Given the description of an element on the screen output the (x, y) to click on. 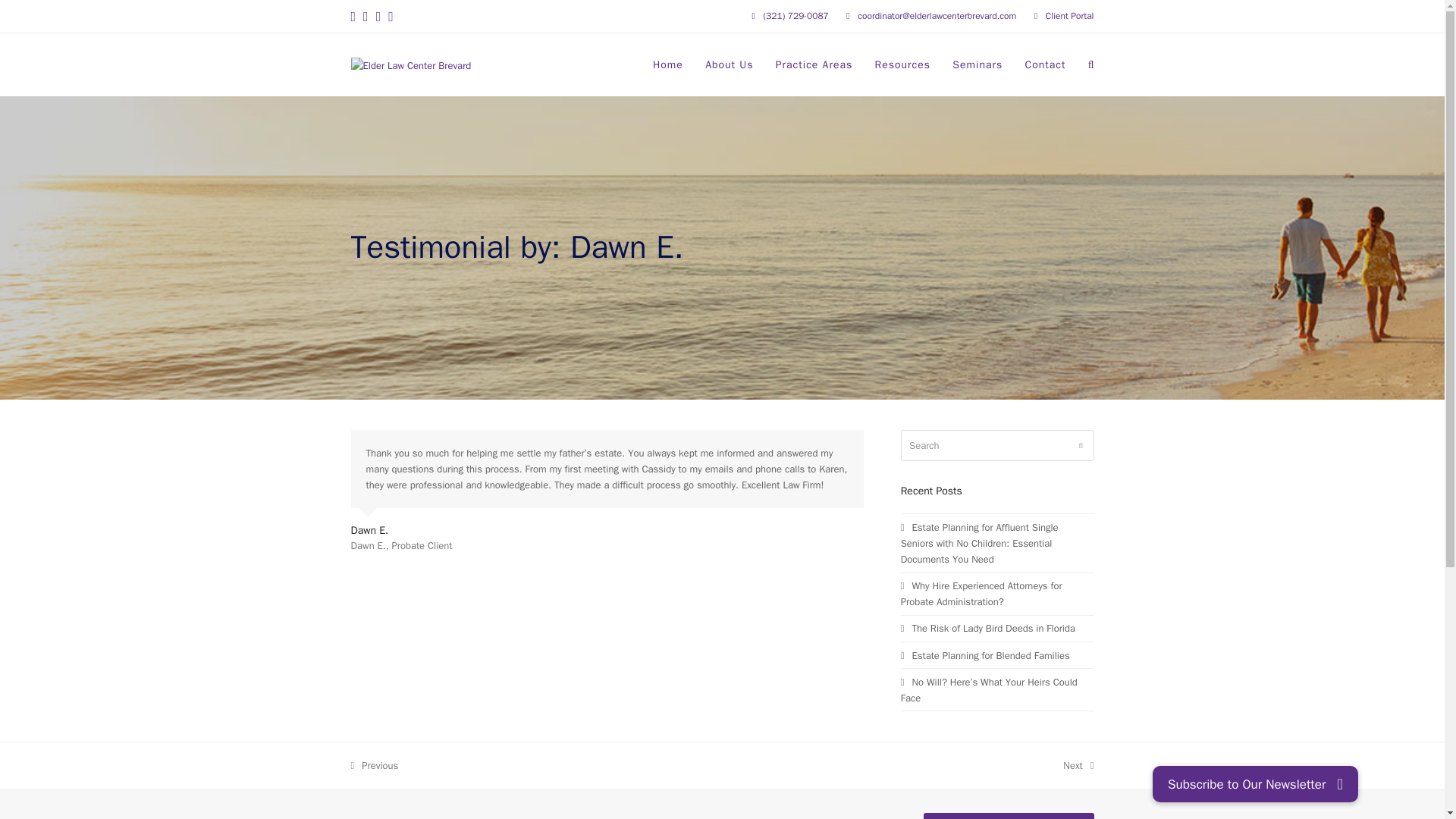
Resources (1077, 765)
Contact (903, 64)
Practice Areas (1045, 64)
Estate Planning for Blended Families (814, 64)
The Risk of Lady Bird Deeds in Florida (373, 765)
Client Portal (985, 655)
Seminars (988, 627)
About Us (1069, 15)
Why Hire Experienced Attorneys for Probate Administration? (977, 64)
